Given the description of an element on the screen output the (x, y) to click on. 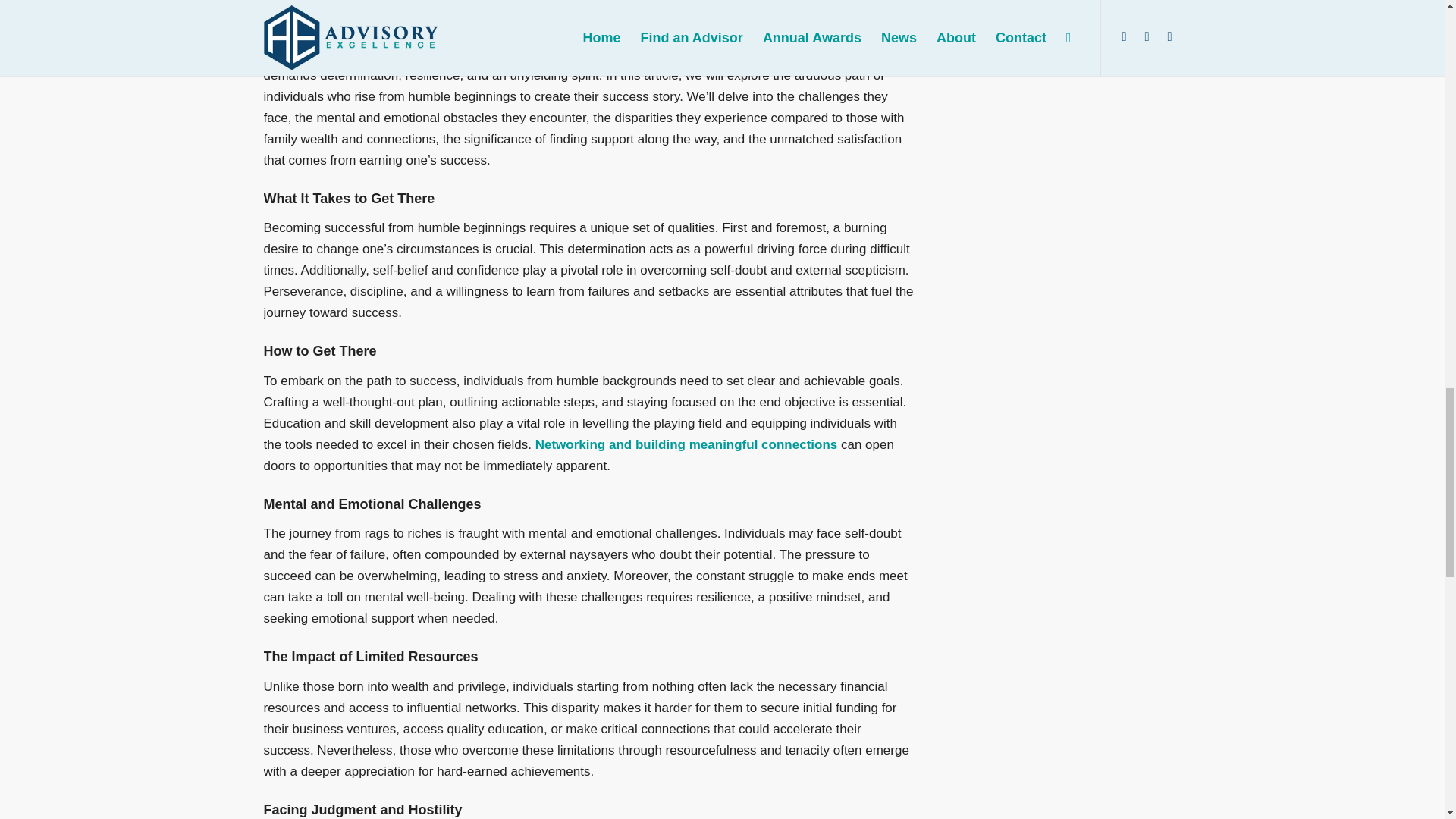
Adversity (438, 15)
0 Comments (366, 15)
News Desk (632, 15)
Overcoming (550, 15)
Networking and building meaningful connections (686, 444)
Beginnings (490, 15)
